Given the description of an element on the screen output the (x, y) to click on. 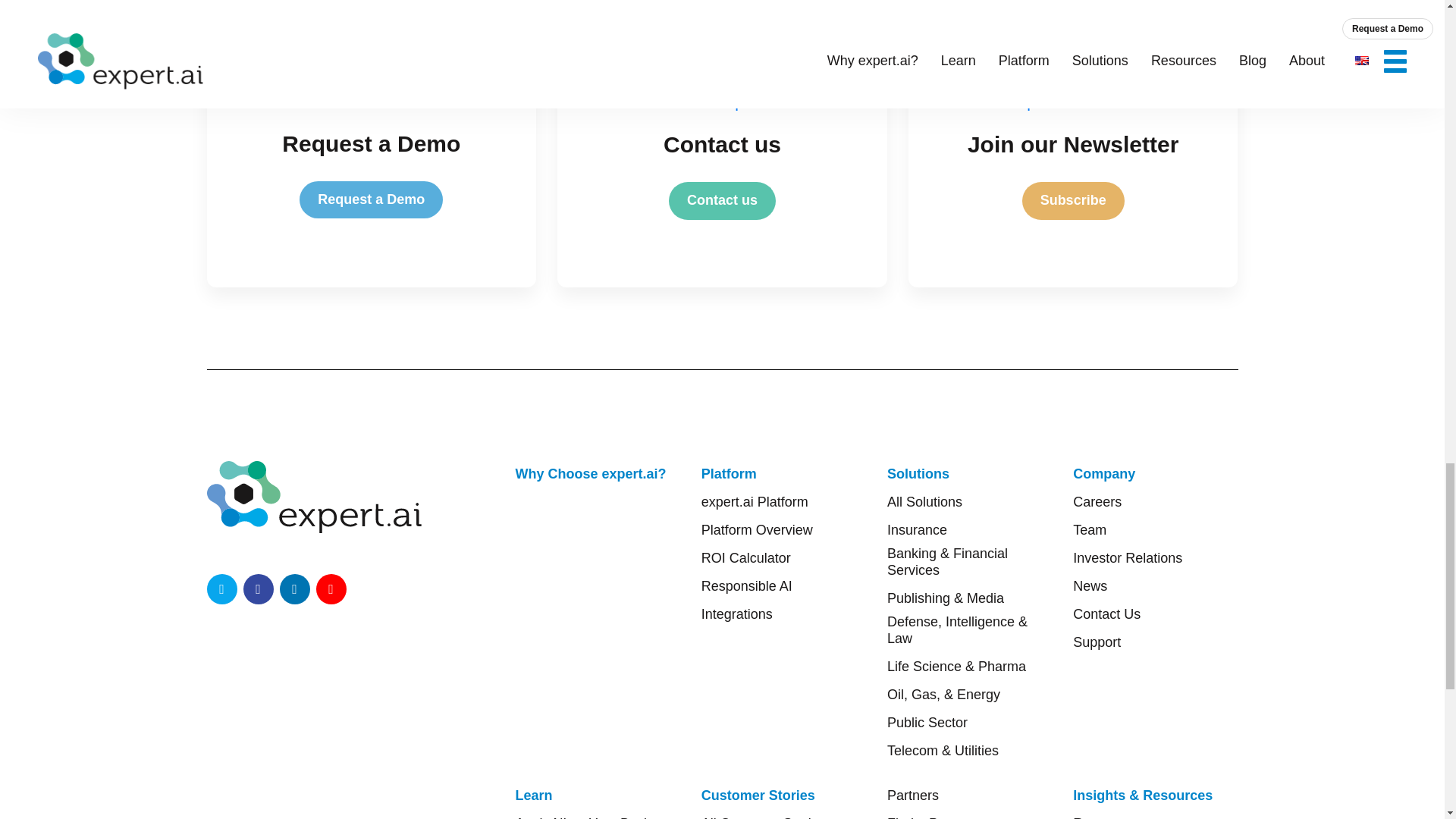
Careers (1097, 501)
Public Sector (927, 722)
Partners (912, 795)
Why Choose expert.ai? (590, 474)
Company (1104, 474)
Customer Stories (758, 795)
Responsible AI (746, 586)
expert.ai Platform (754, 501)
Learn (534, 795)
All Solutions (924, 501)
